Given the description of an element on the screen output the (x, y) to click on. 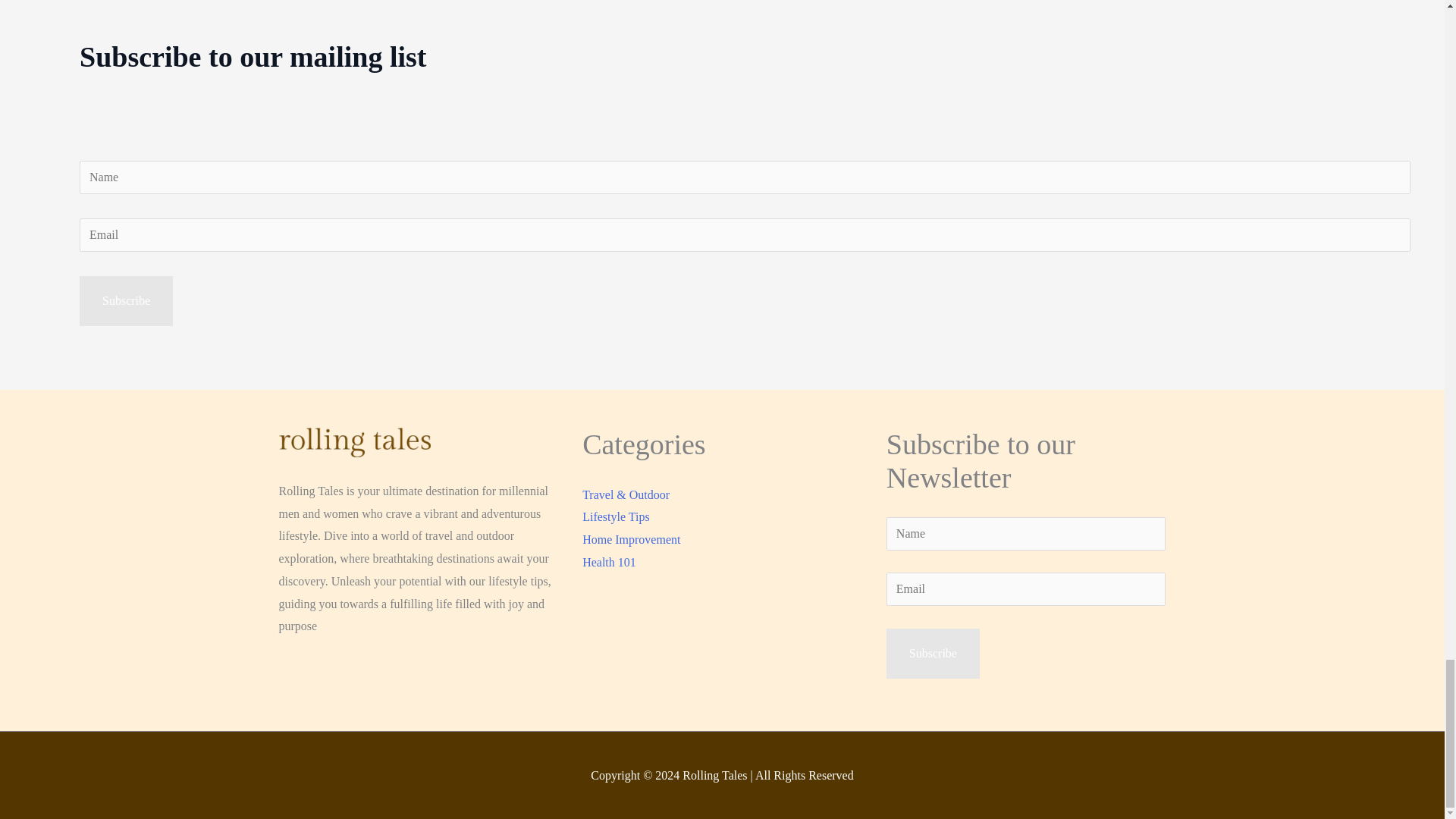
Subscribe (932, 653)
Subscribe (126, 300)
